Given the description of an element on the screen output the (x, y) to click on. 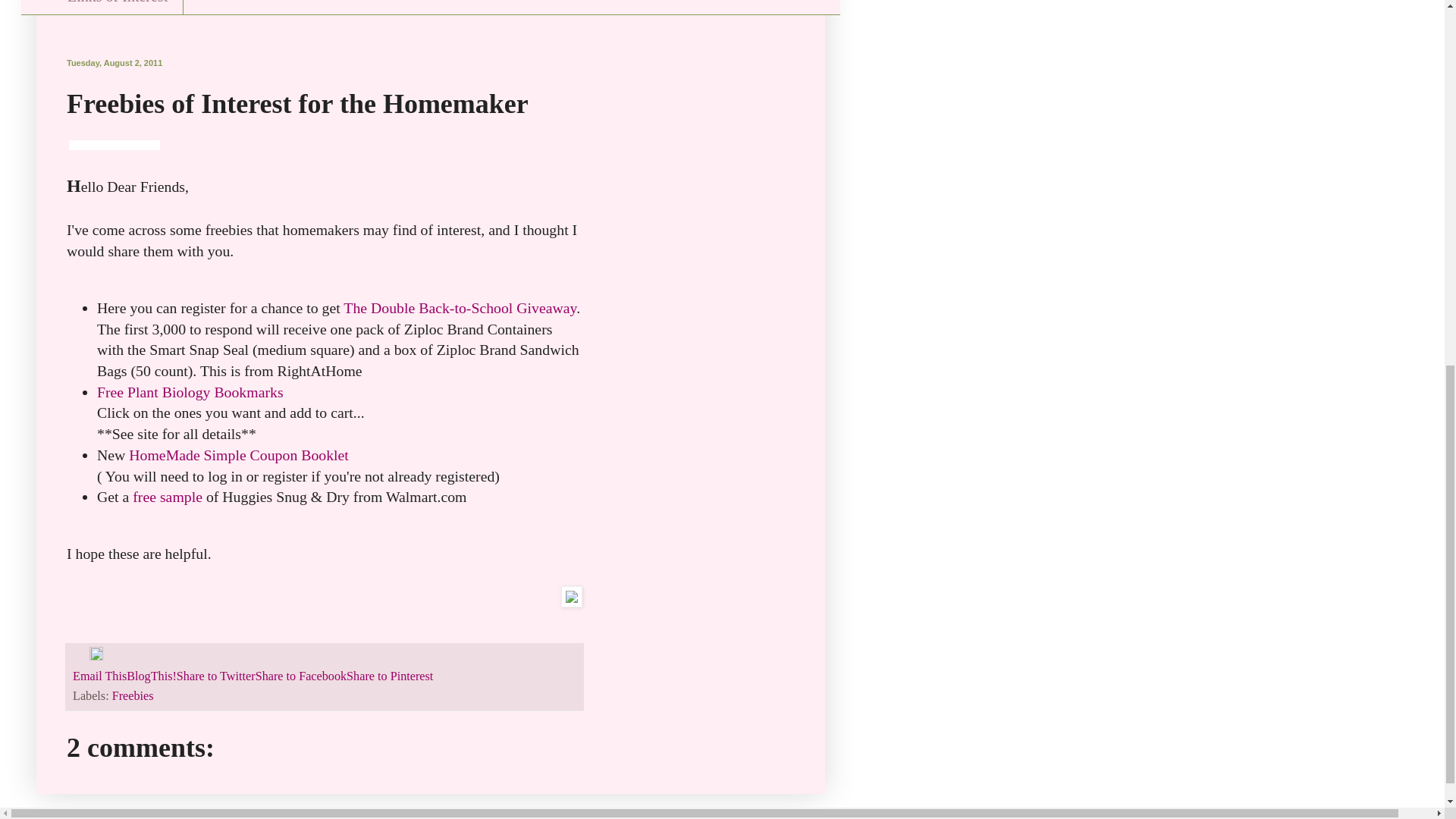
Email This (99, 676)
Share to Facebook (301, 676)
free sample (167, 496)
HomeMade Simple Coupon Booklet (239, 454)
Links of Interest (116, 7)
Free Plant Biology Bookmarks (190, 392)
BlogThis! (151, 676)
The Double Back-to-School Giveaway (459, 307)
Email Post (80, 656)
Share to Facebook (301, 676)
BlogThis! (151, 676)
Freebies (133, 695)
Share to Pinterest (389, 676)
Edit Post (95, 656)
Email This (99, 676)
